Given the description of an element on the screen output the (x, y) to click on. 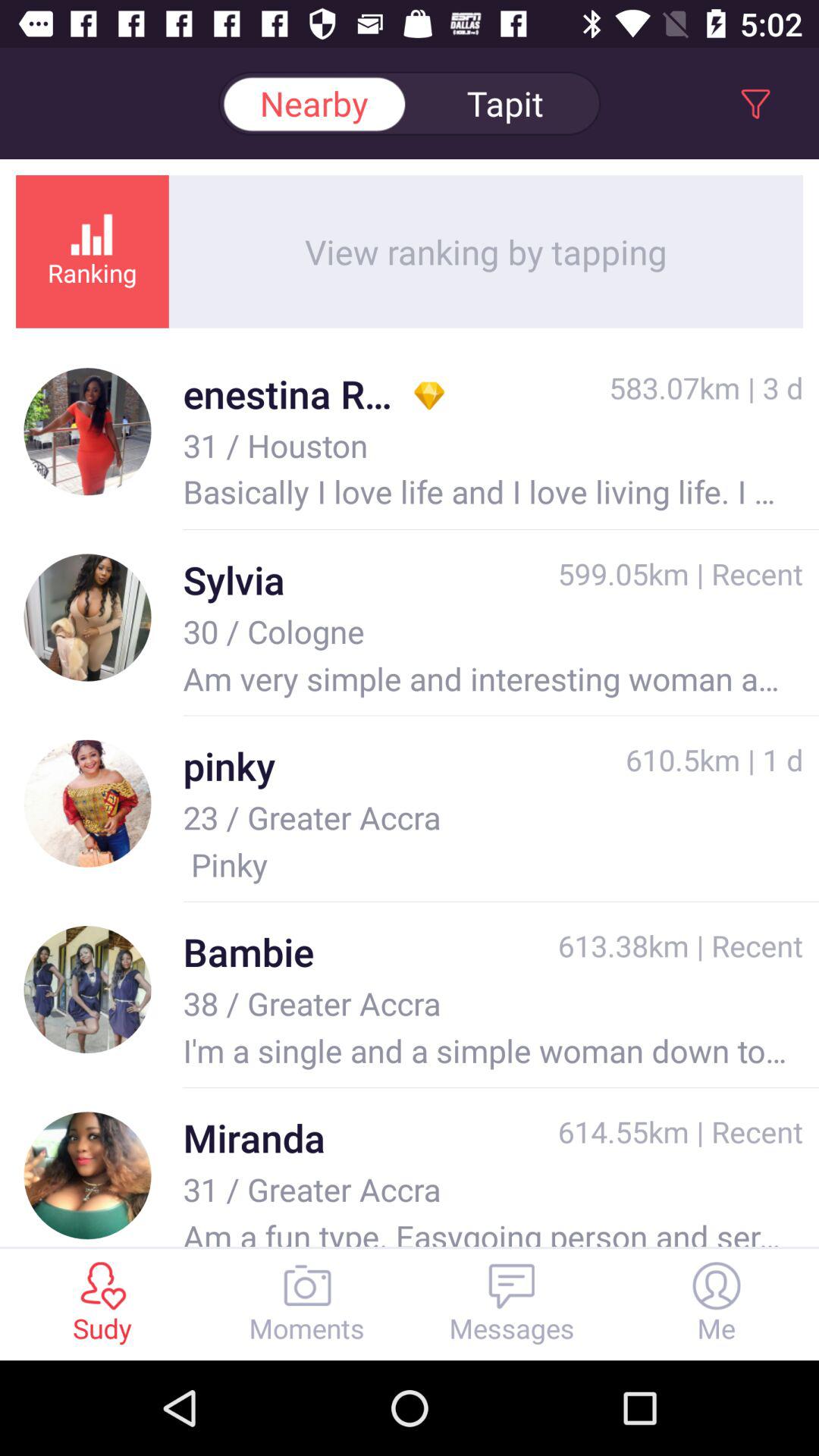
flip to the nearby item (313, 103)
